Given the description of an element on the screen output the (x, y) to click on. 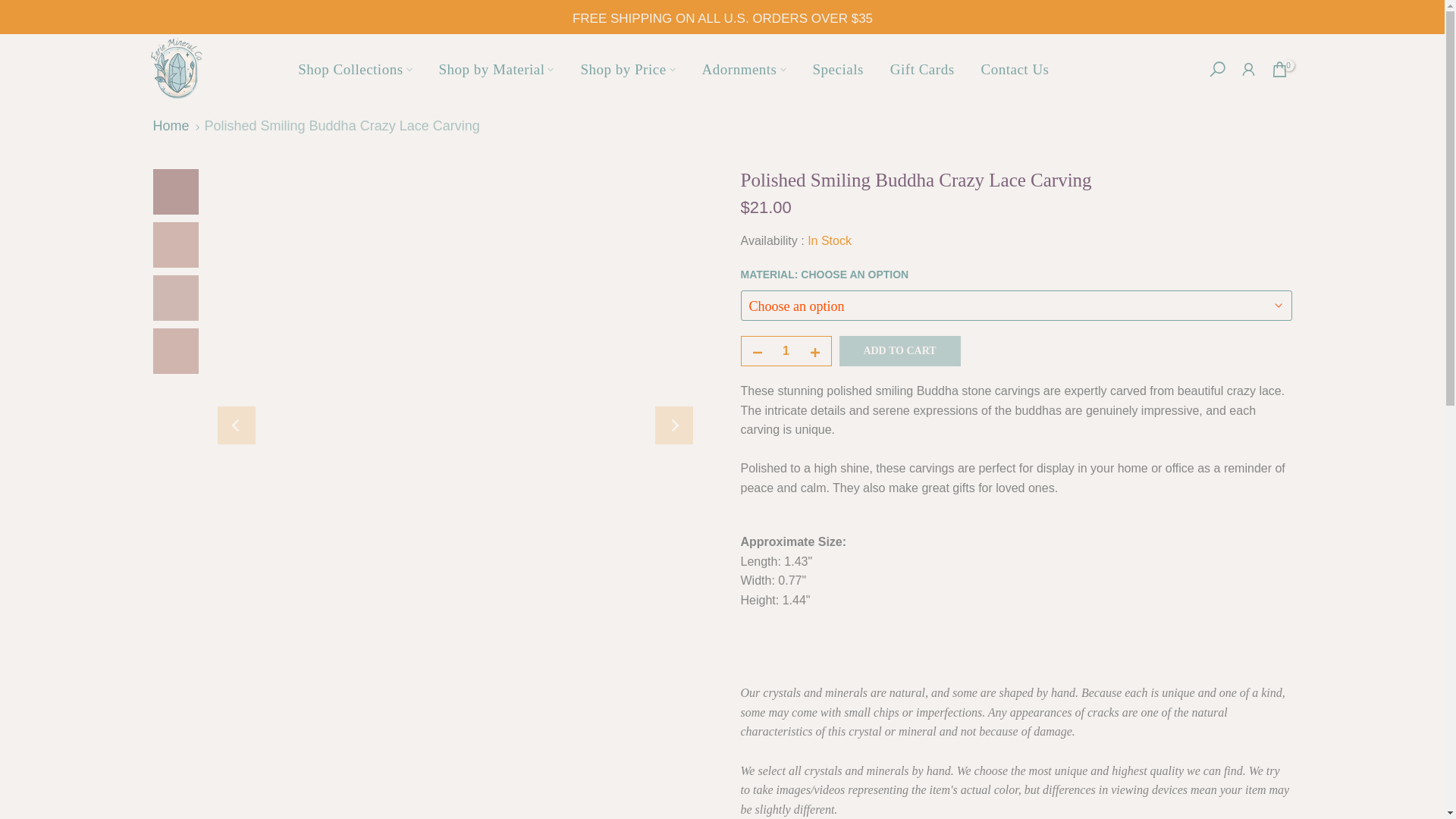
Shop by Material (496, 69)
Skip to content (10, 7)
1 (786, 350)
Shop Collections (355, 69)
